Given the description of an element on the screen output the (x, y) to click on. 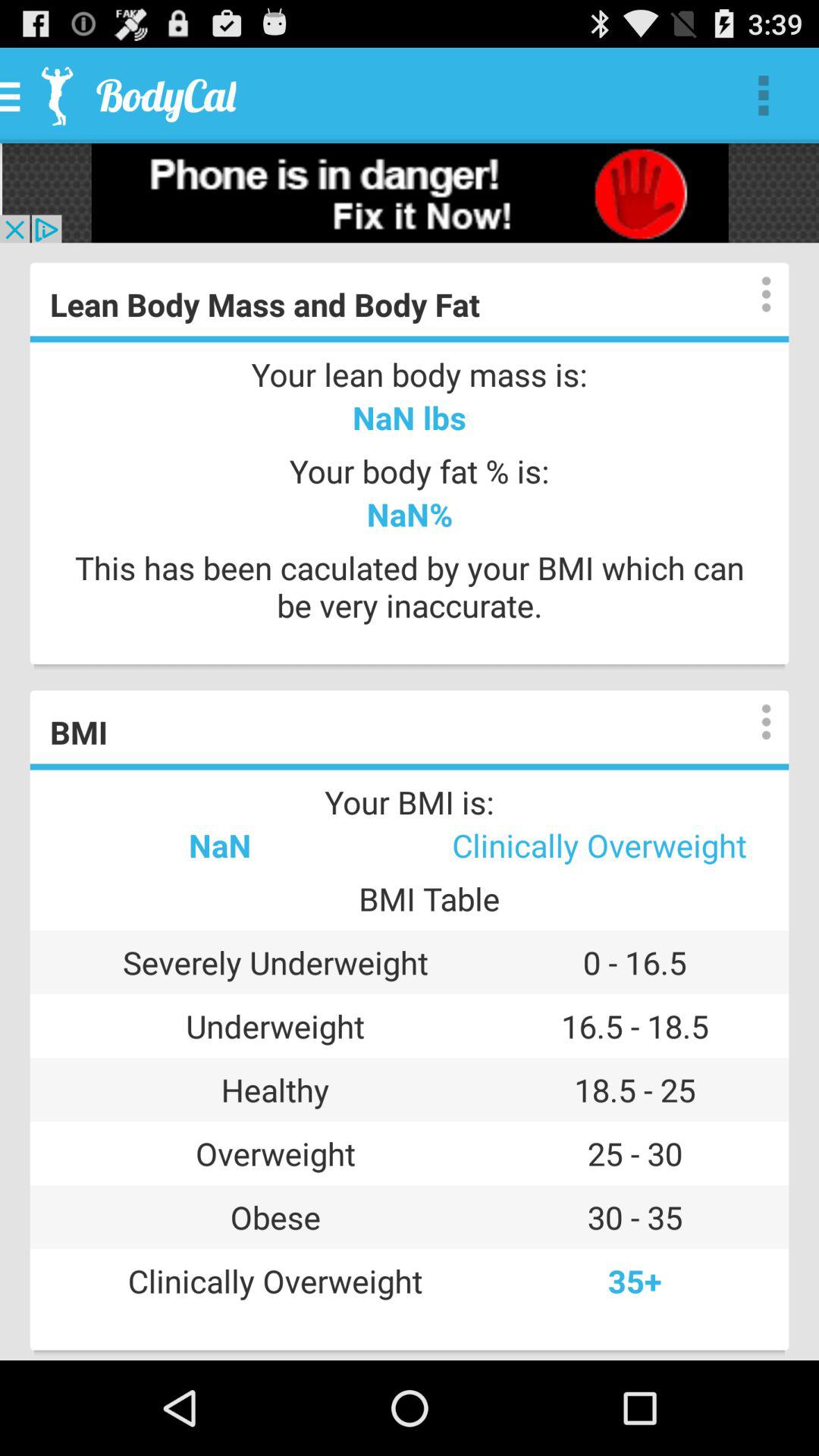
search the option (750, 722)
